Given the description of an element on the screen output the (x, y) to click on. 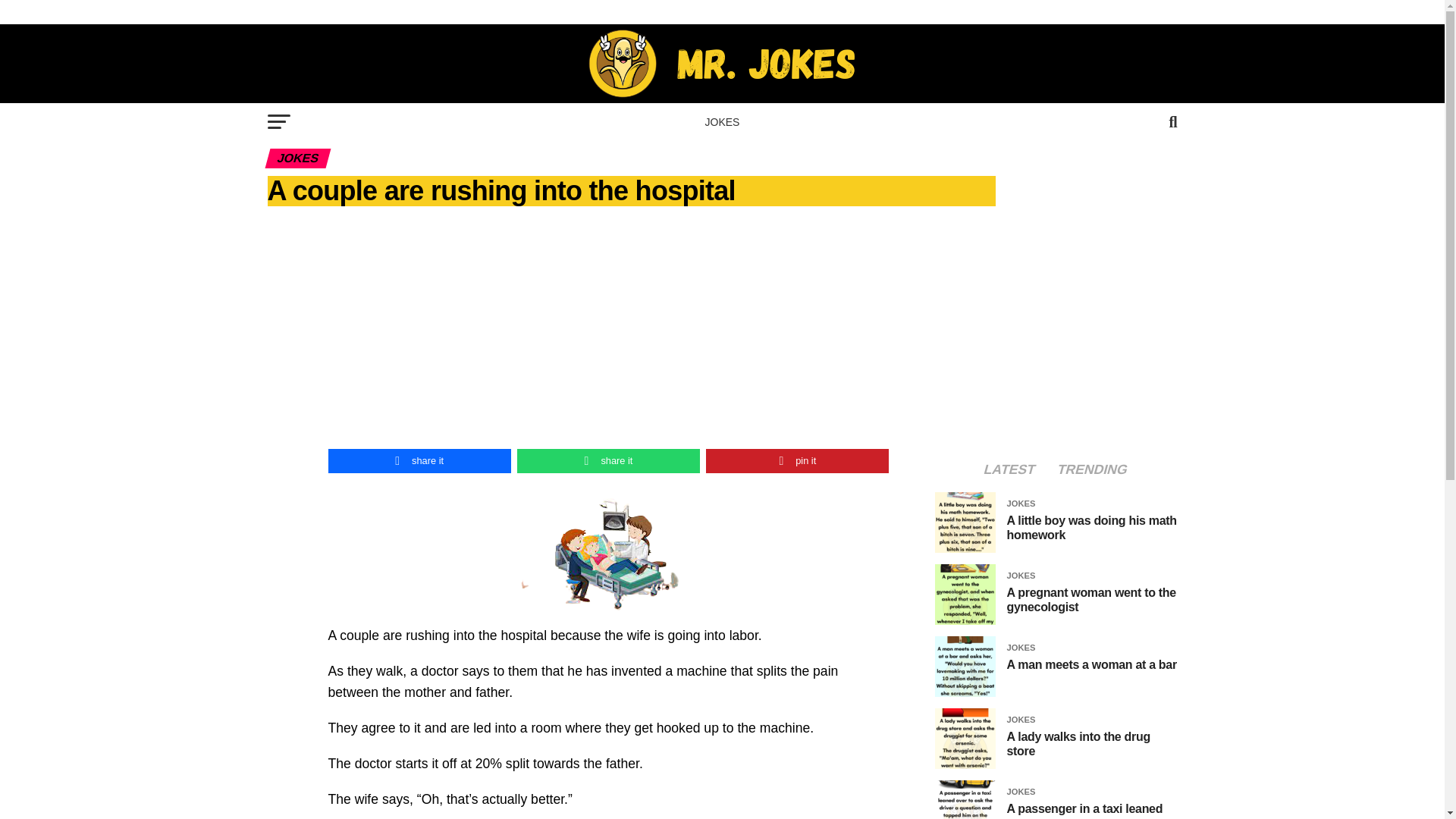
JOKES (722, 121)
share it (608, 460)
LATEST (1009, 469)
TRENDING (1092, 469)
Submit this to Pinterest (797, 460)
pin it (797, 460)
WhatsApp (608, 460)
share it (419, 460)
Share this on Facebook (419, 460)
